Given the description of an element on the screen output the (x, y) to click on. 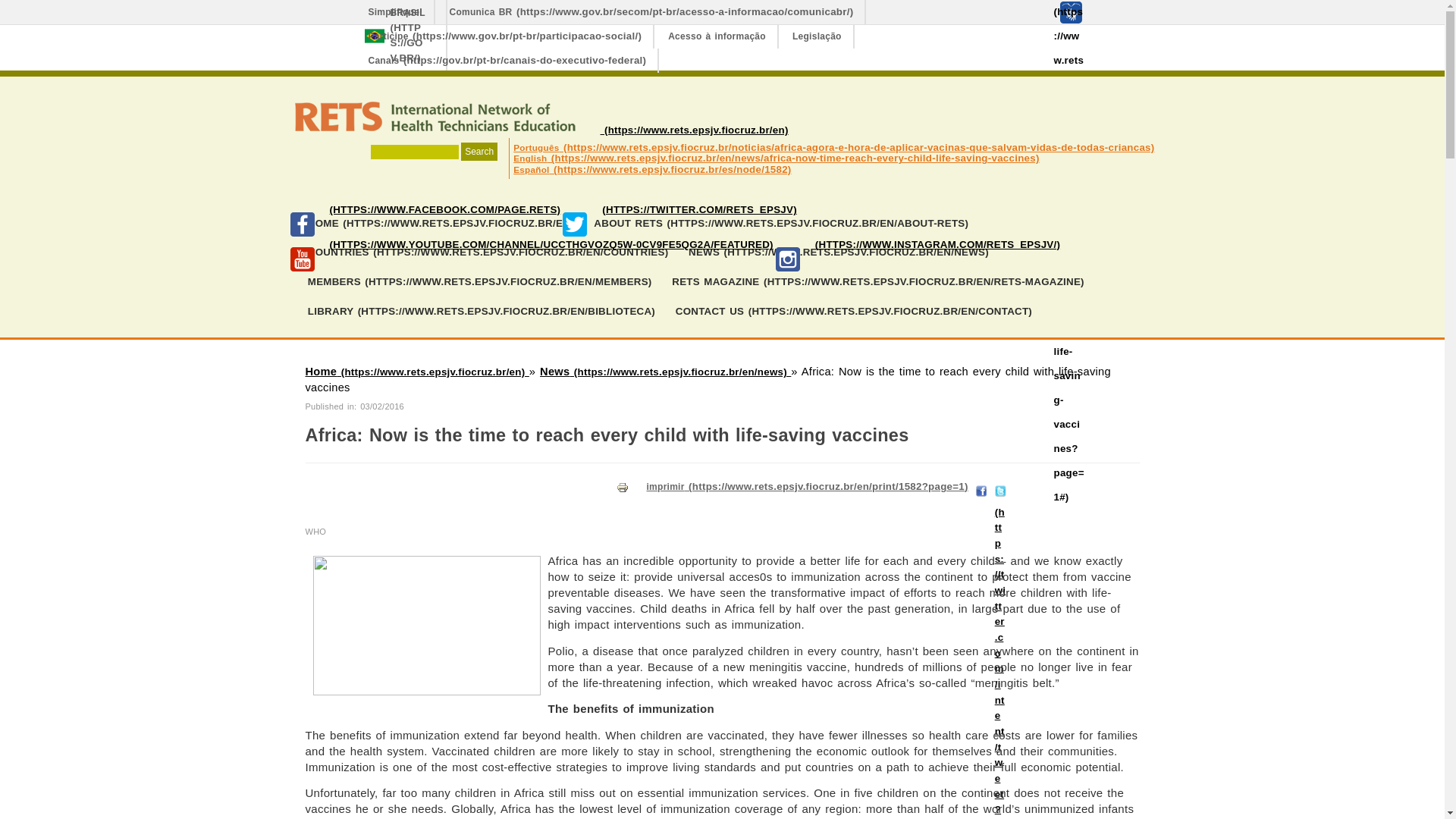
MEMBERS (479, 282)
ABOUT RETS (780, 224)
imprimir (807, 486)
News (665, 371)
imprimir (623, 487)
Participe (505, 36)
Comunica BR (651, 11)
Simplifique! (395, 11)
Members (479, 282)
BRASIL (392, 35)
